Given the description of an element on the screen output the (x, y) to click on. 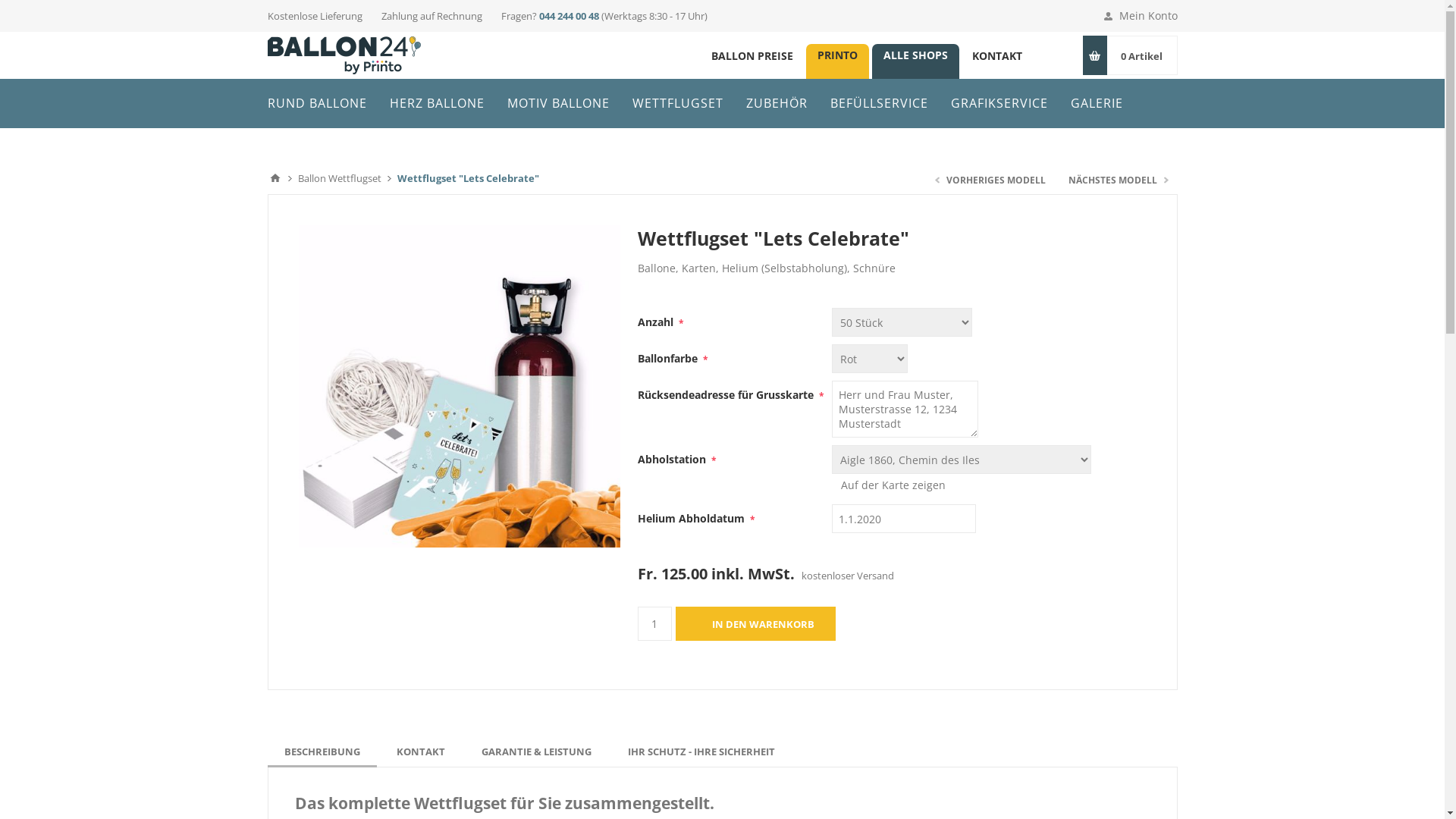
Auf der Karte zeigen Element type: text (892, 484)
HERZ BALLONE Element type: text (436, 102)
WETTFLUGSET Element type: text (677, 102)
0 Artikel Element type: text (1140, 55)
KONTAKT Element type: text (996, 54)
MOTIV BALLONE Element type: text (557, 102)
GRAFIKSERVICE Element type: text (999, 102)
BALLON PREISE Element type: text (751, 54)
IHR SCHUTZ - IHRE SICHERHEIT Element type: text (701, 751)
VORHERIGES MODELL Element type: text (990, 180)
PRINTO Element type: text (836, 54)
ALLE SHOPS Element type: text (915, 54)
H Element type: hover (687, 55)
RUND BALLONE Element type: text (316, 102)
Home Element type: text (274, 178)
BESCHREIBUNG Element type: text (321, 751)
KONTAKT Element type: text (420, 751)
GALERIE Element type: text (1096, 102)
044 244 00 48 Element type: text (568, 15)
In den Warenkorb Element type: text (755, 623)
GARANTIE & LEISTUNG Element type: text (535, 751)
Ballon Wettflugset Element type: text (338, 178)
